Given the description of an element on the screen output the (x, y) to click on. 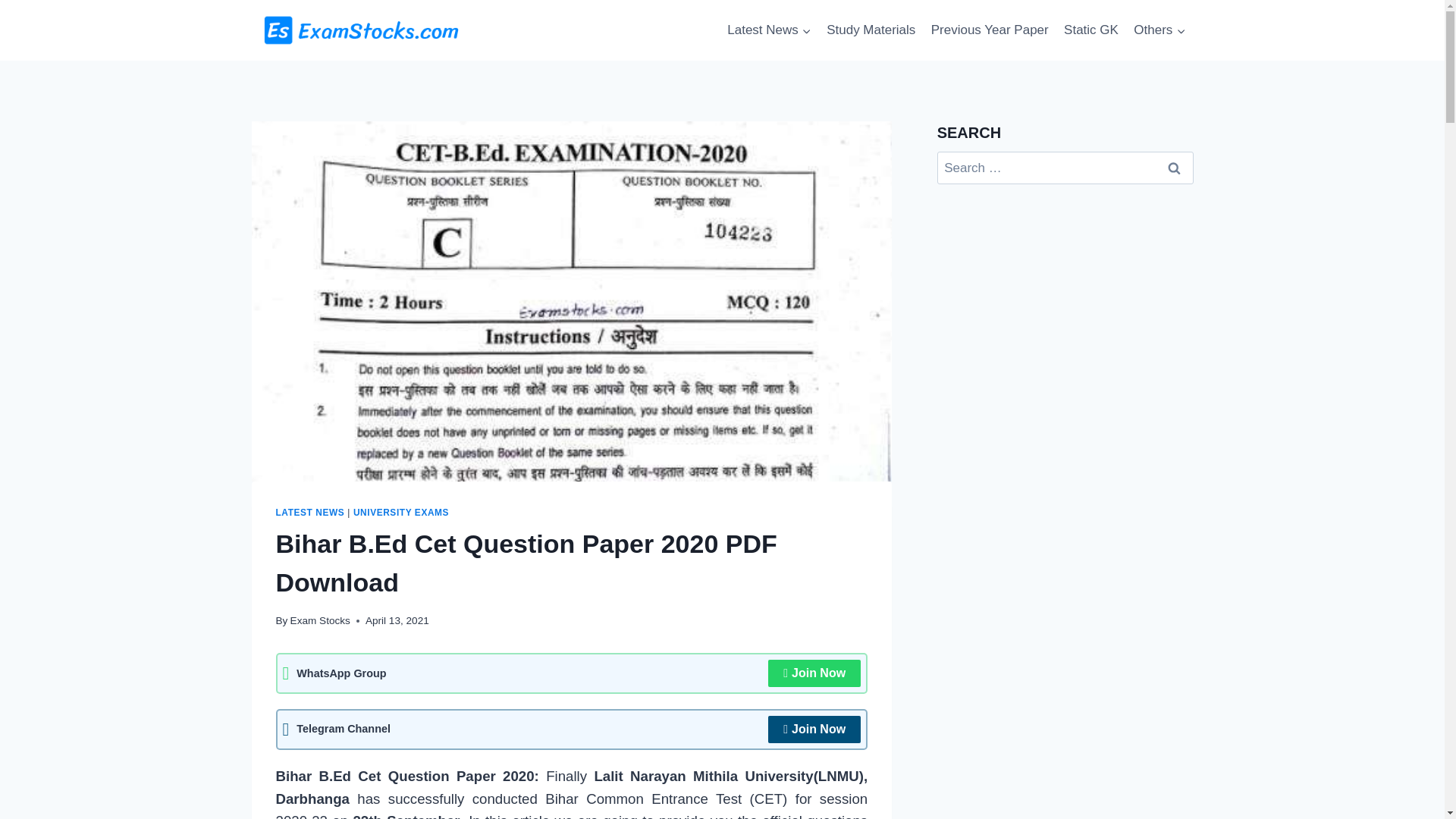
Latest News (768, 30)
UNIVERSITY EXAMS (400, 511)
Static GK (1091, 30)
Search (1174, 167)
Join Now (814, 728)
Join Now (814, 673)
Search (1174, 167)
Search (1174, 167)
LATEST NEWS (310, 511)
Study Materials (870, 30)
